Given the description of an element on the screen output the (x, y) to click on. 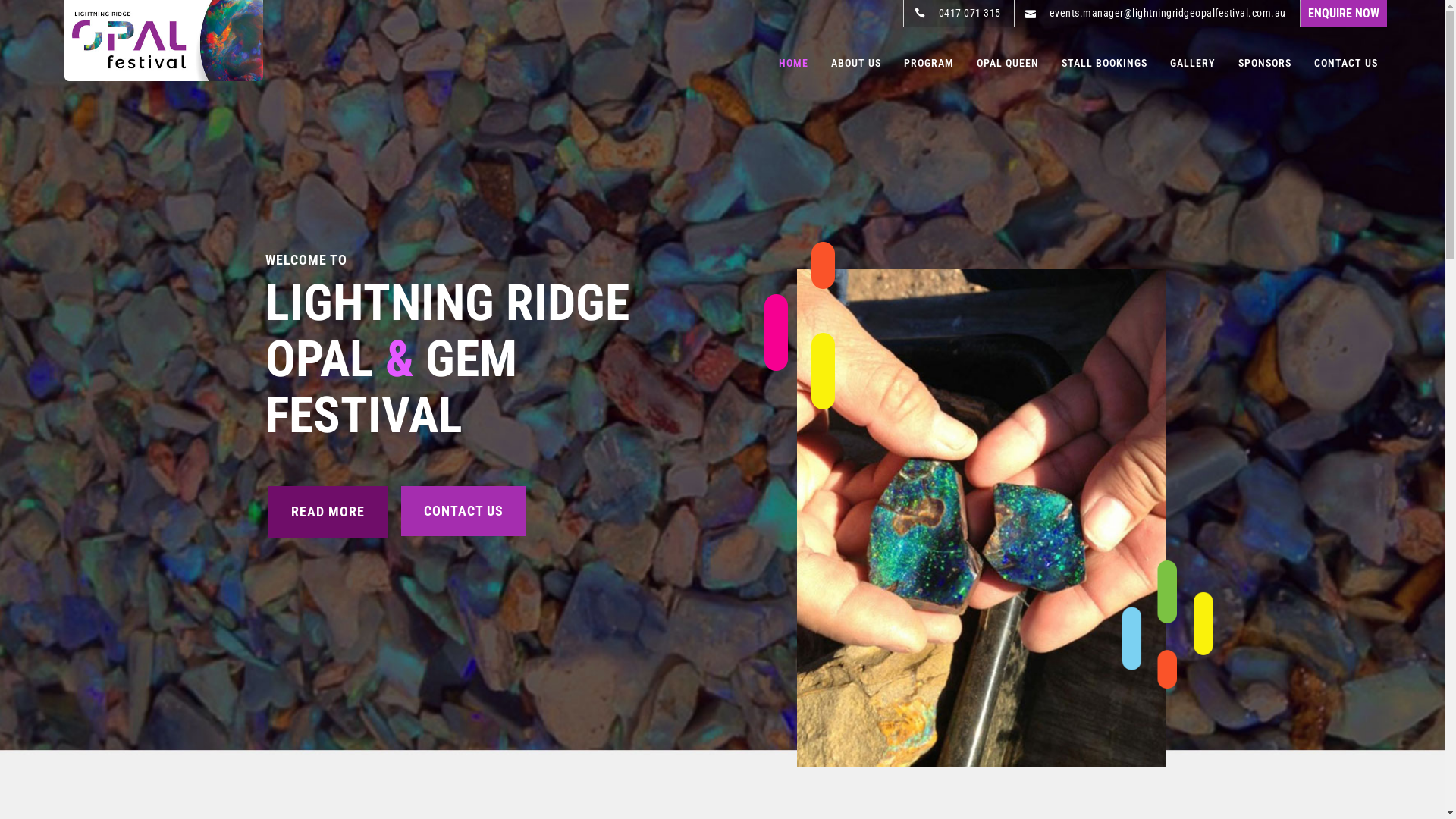
READ MORE Element type: text (327, 511)
STALL BOOKINGS Element type: text (1104, 62)
ABOUT US Element type: text (856, 62)
OPAL QUEEN Element type: text (1007, 62)
CONTACT US Element type: text (463, 511)
SPONSORS Element type: text (1264, 62)
CONTACT US Element type: text (1345, 62)
PROGRAM Element type: text (928, 62)
GALLERY Element type: text (1192, 62)
HOME Element type: text (793, 62)
